Given the description of an element on the screen output the (x, y) to click on. 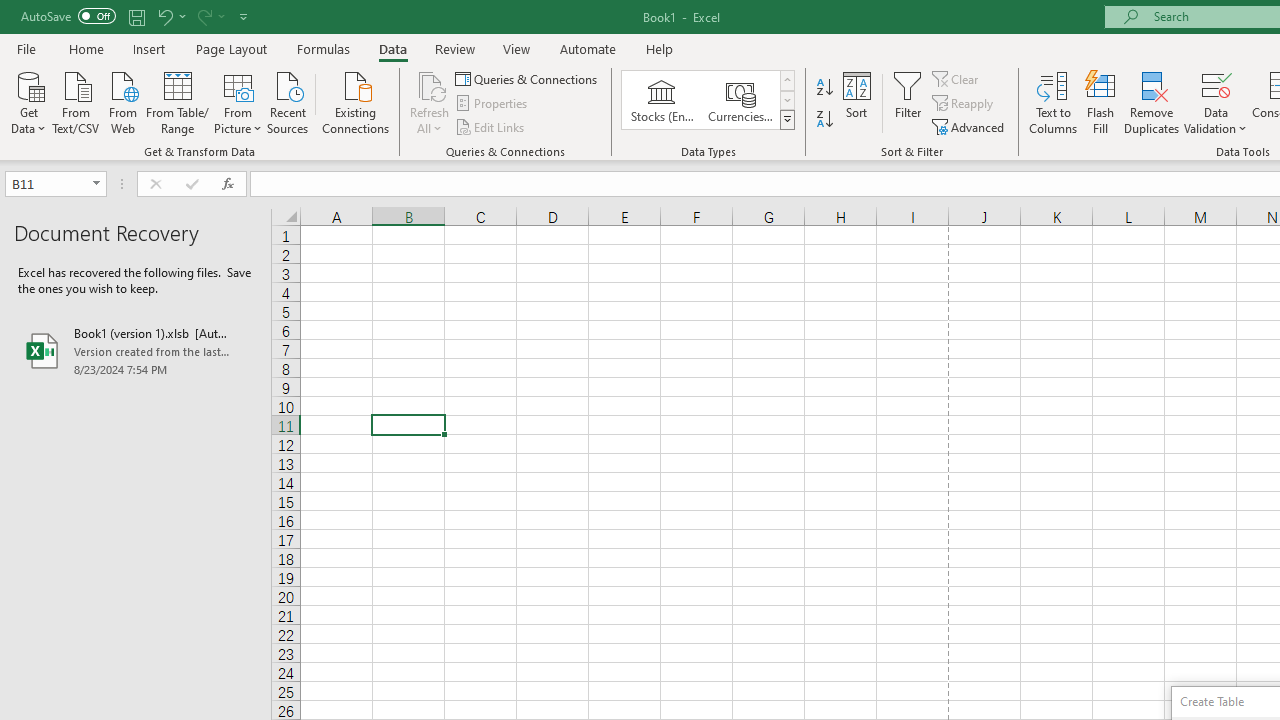
Existing Connections (355, 101)
Sort A to Z (824, 87)
From Web (122, 101)
